Given the description of an element on the screen output the (x, y) to click on. 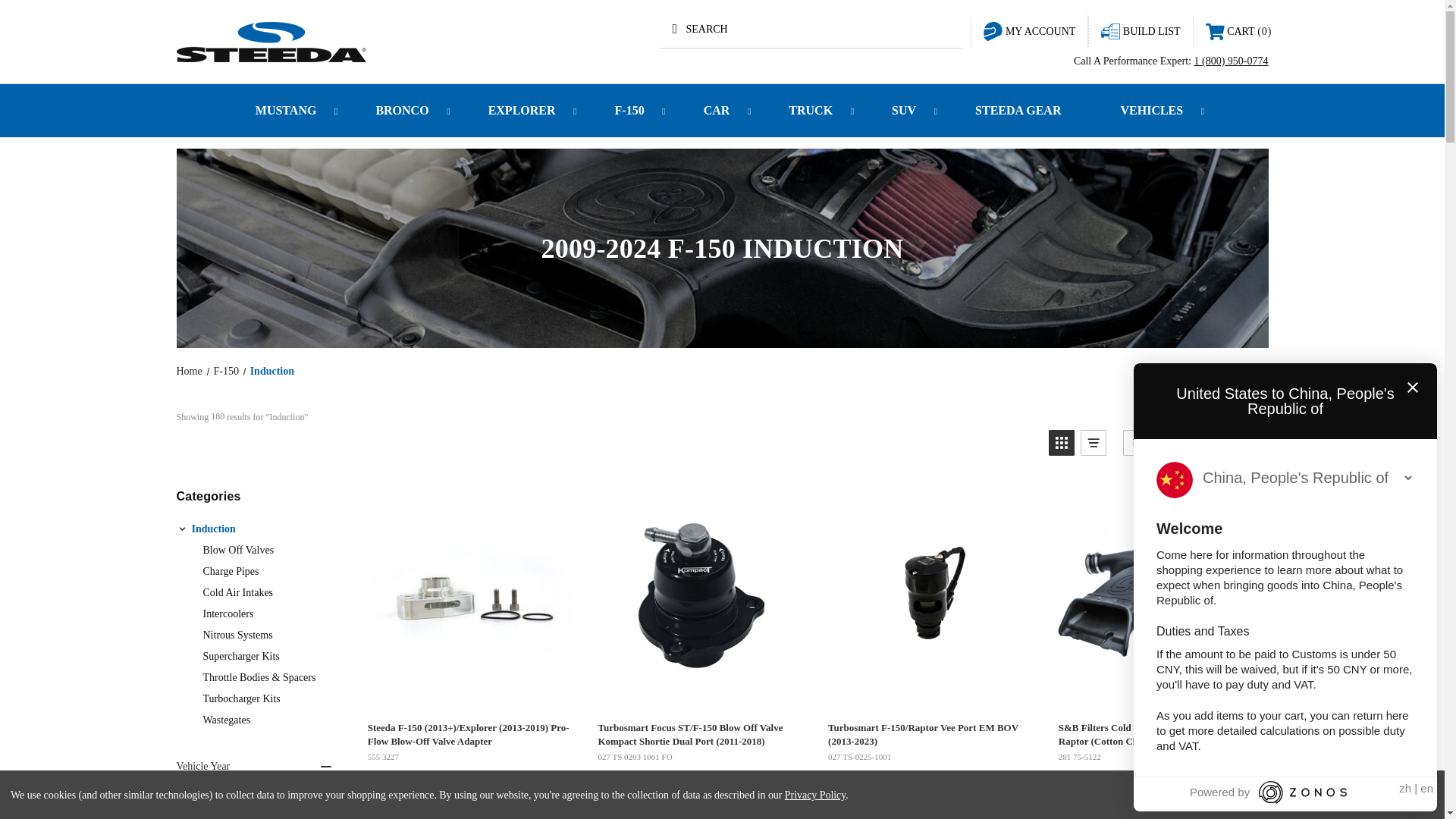
MUSTANG (288, 110)
MY ACCOUNT (1029, 30)
CART 0 (1238, 31)
BUILD LIST (1140, 30)
SEARCH (810, 29)
steeda-autosports-logo (270, 41)
